Given the description of an element on the screen output the (x, y) to click on. 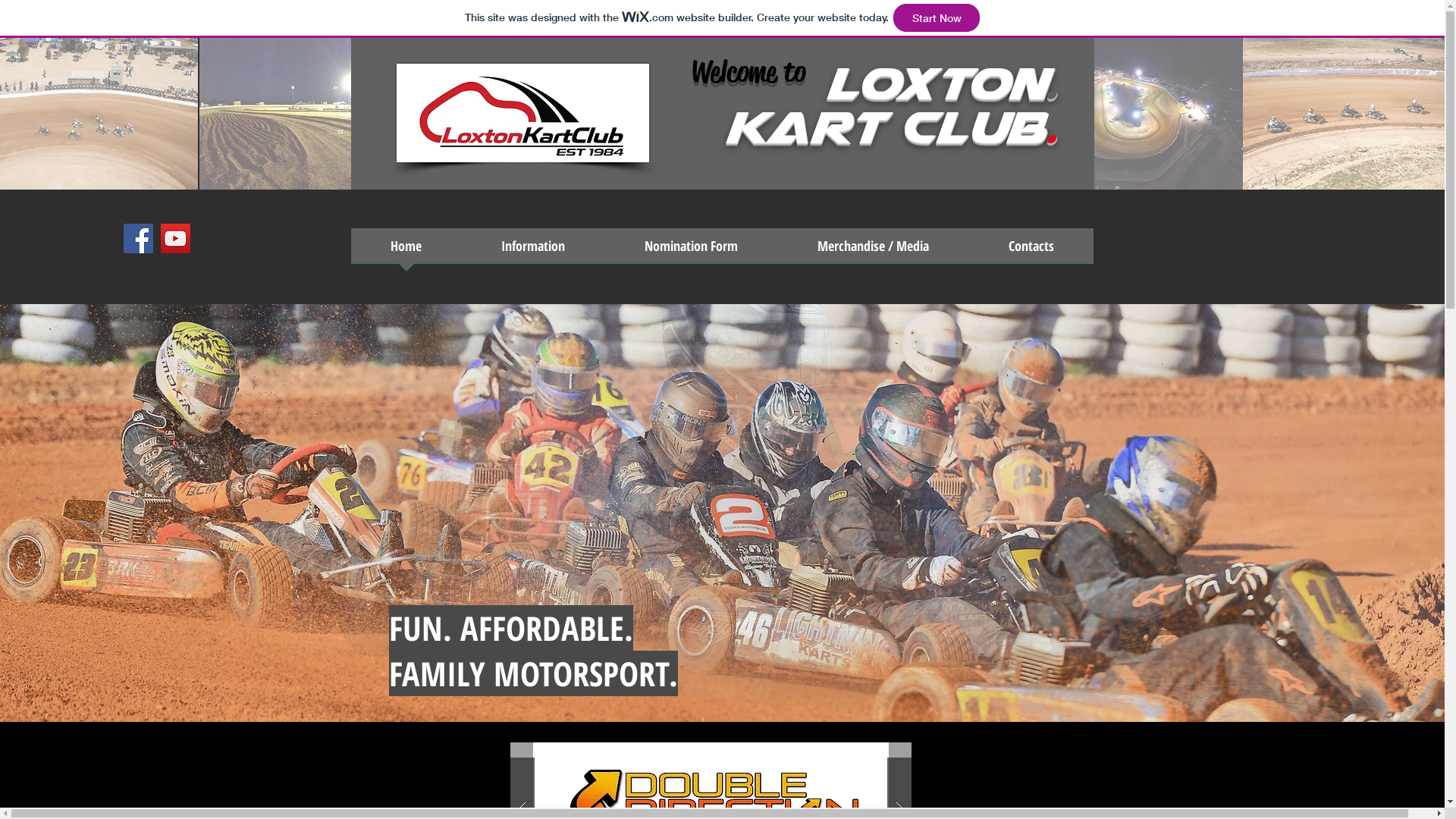
Home Element type: text (405, 250)
Nomination Form Element type: text (691, 250)
Merchandise / Media Element type: text (873, 250)
